Given the description of an element on the screen output the (x, y) to click on. 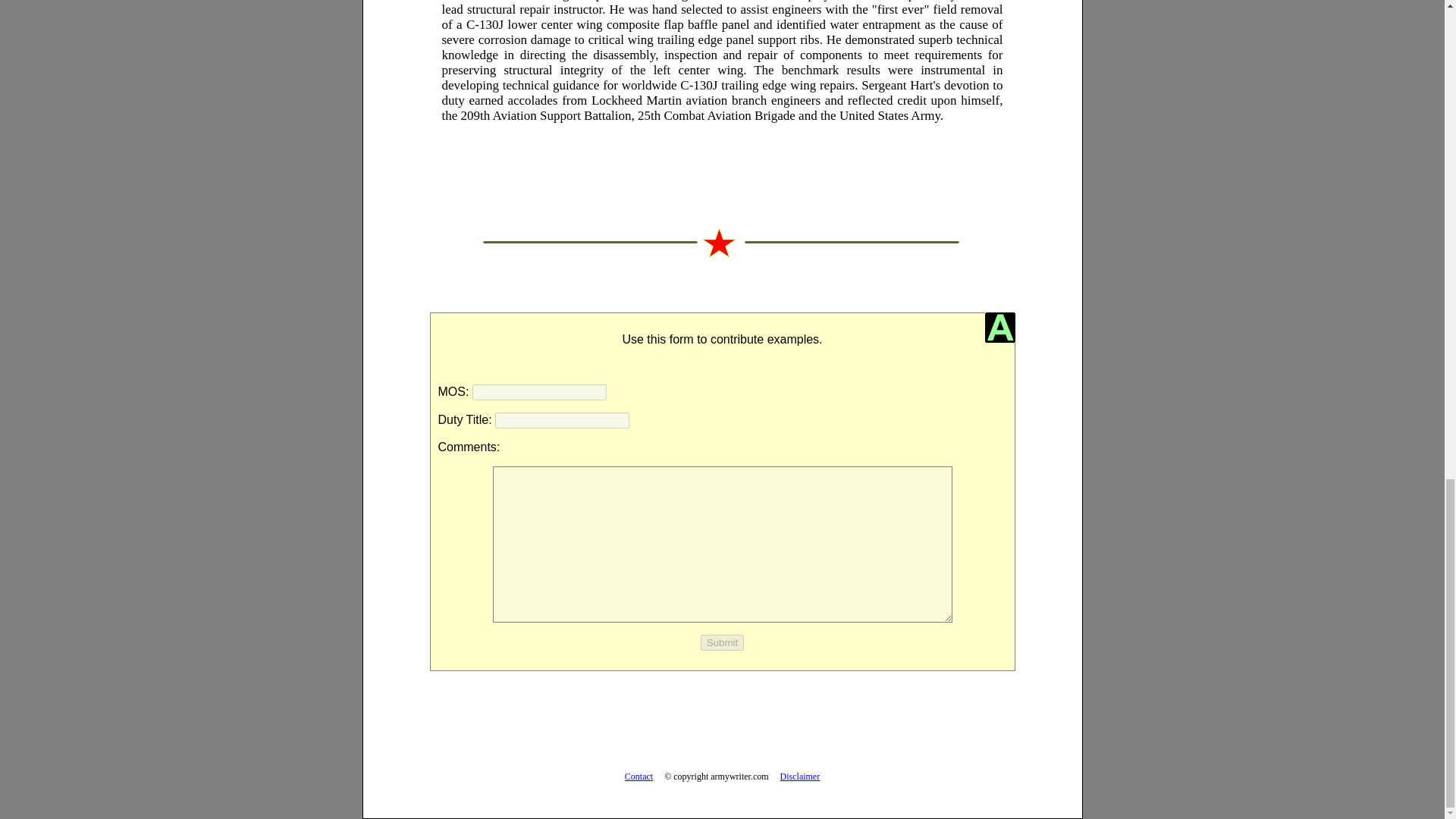
Disclaimer (800, 776)
Submit (722, 642)
Contact (638, 776)
Submit (722, 642)
